Given the description of an element on the screen output the (x, y) to click on. 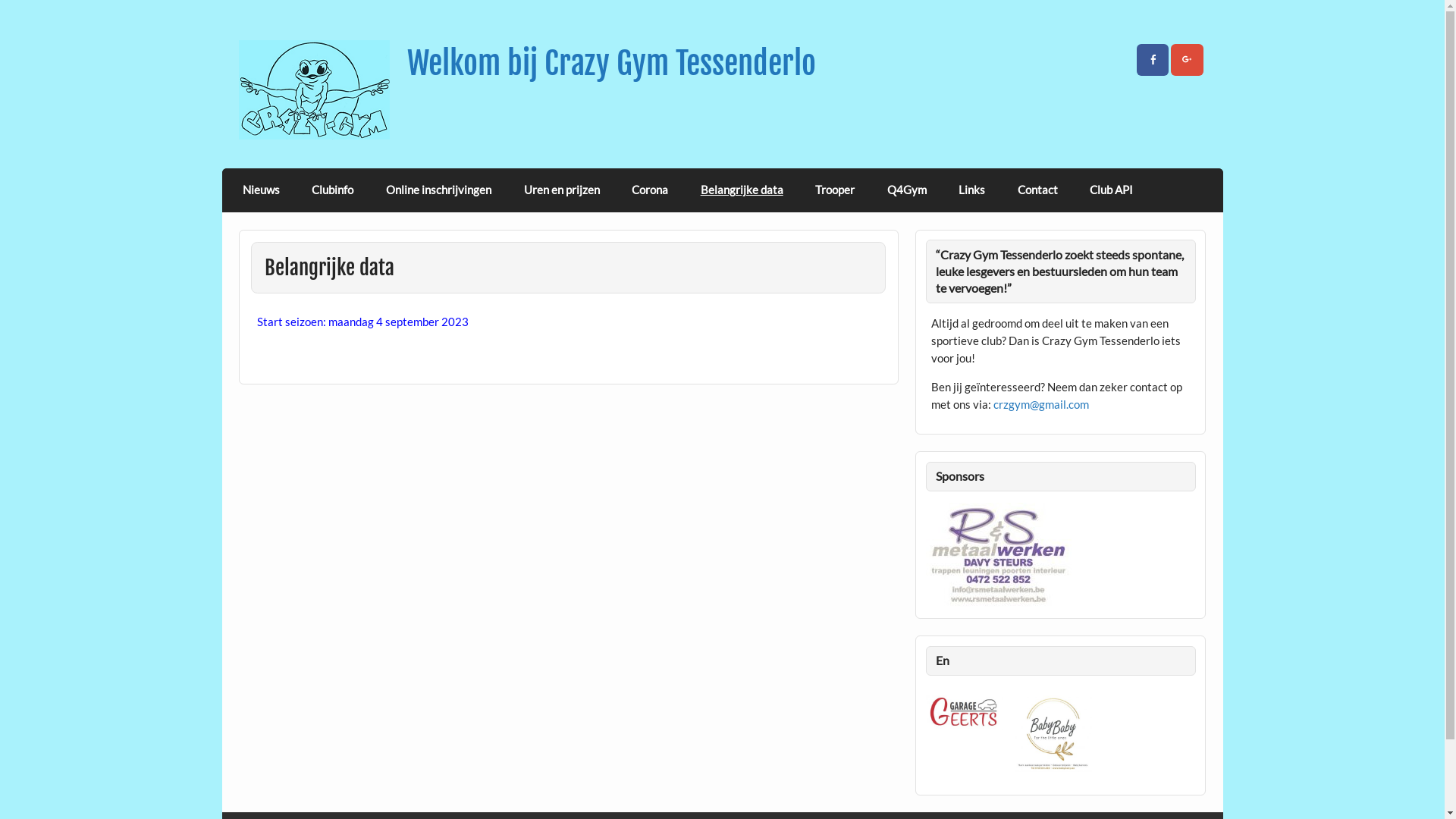
Uren en prijzen Element type: text (561, 190)
Online inschrijvingen Element type: text (439, 190)
crzgym@gmail.com Element type: text (1040, 404)
Welkom bij Crazy Gym Tessenderlo Element type: text (611, 62)
Club API Element type: text (1111, 190)
Nieuws Element type: text (261, 190)
Contact Element type: text (1037, 190)
Belangrijke data Element type: text (741, 190)
Links Element type: text (971, 190)
Corona Element type: text (649, 190)
Clubinfo Element type: text (332, 190)
Q4Gym Element type: text (907, 190)
Trooper Element type: text (835, 190)
